Given the description of an element on the screen output the (x, y) to click on. 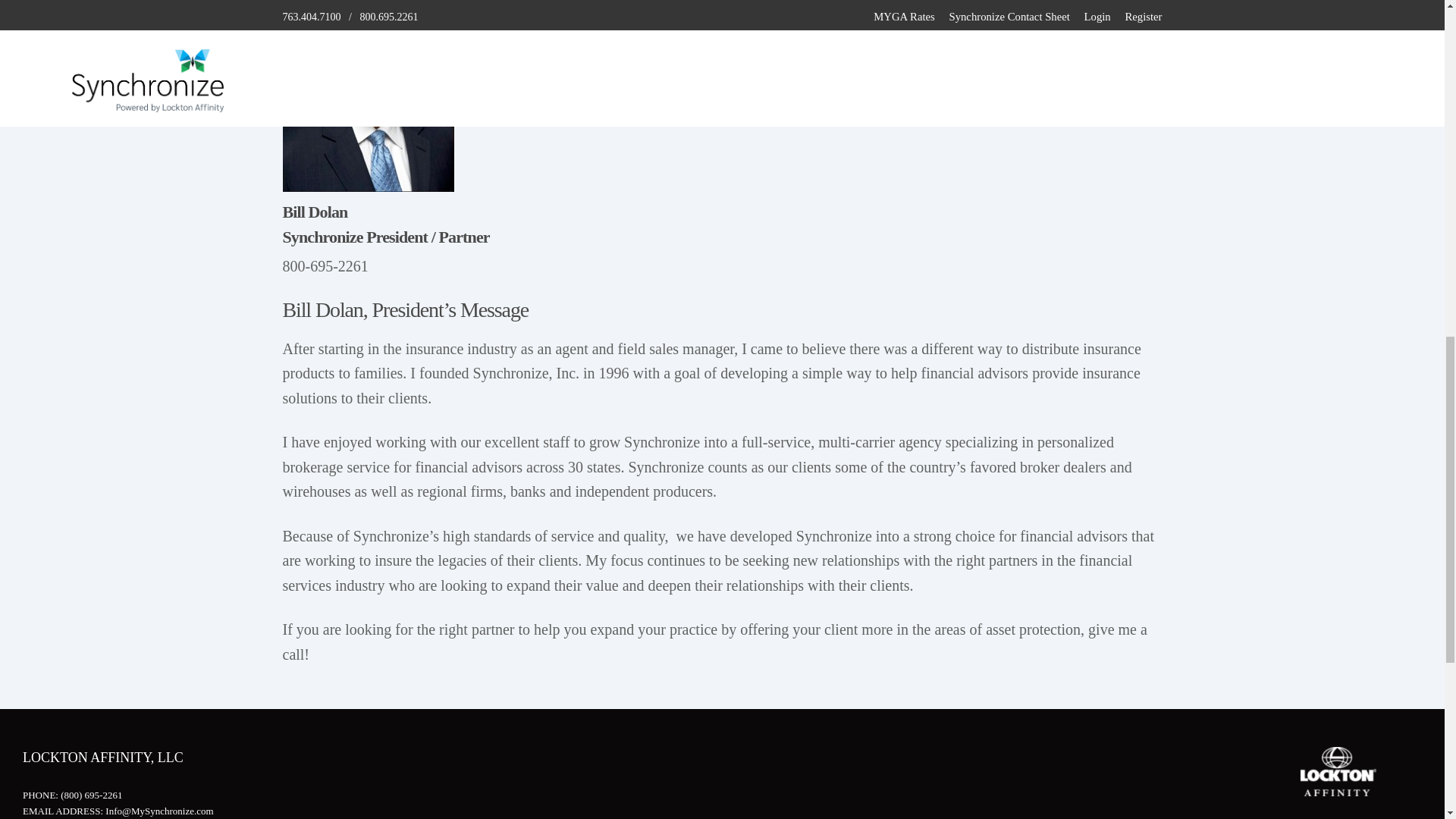
Lockton-Affinity-Logo-OL-White-200-x-131-110x72 (1337, 771)
